Given the description of an element on the screen output the (x, y) to click on. 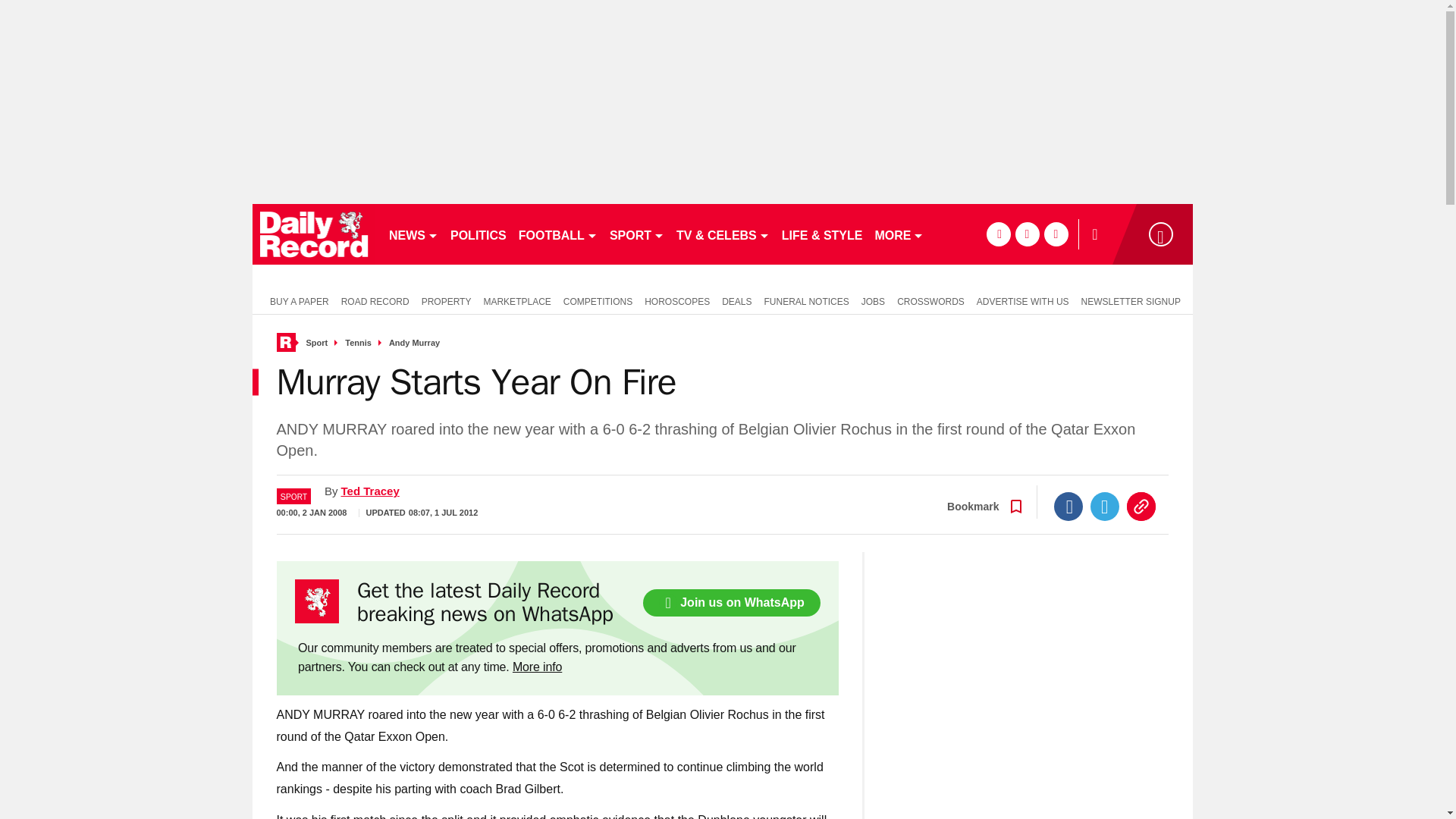
Facebook (1068, 506)
SPORT (636, 233)
dailyrecord (313, 233)
facebook (997, 233)
FOOTBALL (558, 233)
Twitter (1104, 506)
NEWS (413, 233)
twitter (1026, 233)
POLITICS (478, 233)
instagram (1055, 233)
